Given the description of an element on the screen output the (x, y) to click on. 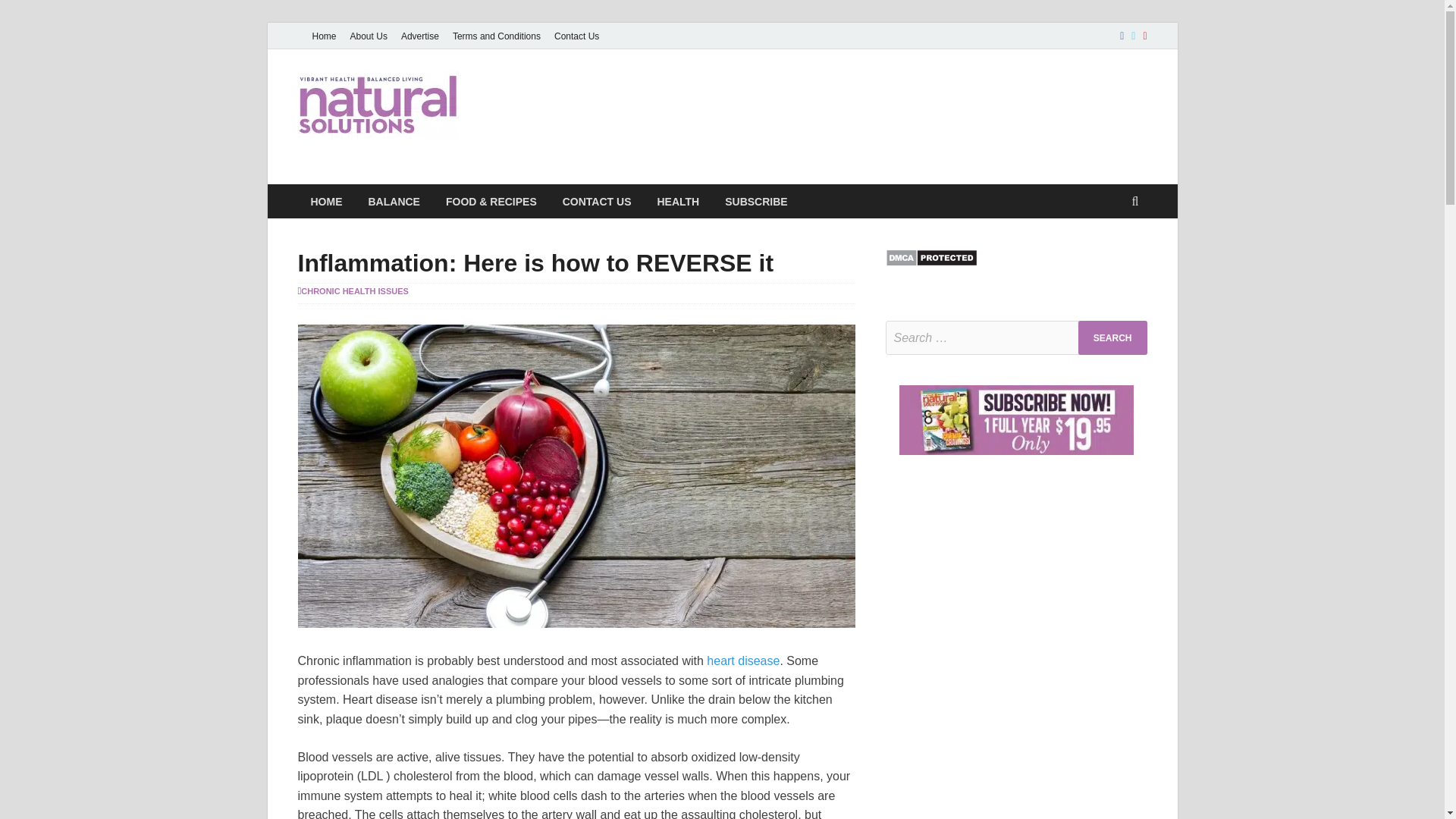
Search (1112, 337)
HOME (326, 201)
BALANCE (393, 201)
SUBSCRIBE (755, 201)
CHRONIC HEALTH ISSUES (355, 290)
Home (323, 35)
Advertise (419, 35)
Terms and Conditions (496, 35)
HEALTH (677, 201)
DMCA.com Protection Status (930, 262)
